Given the description of an element on the screen output the (x, y) to click on. 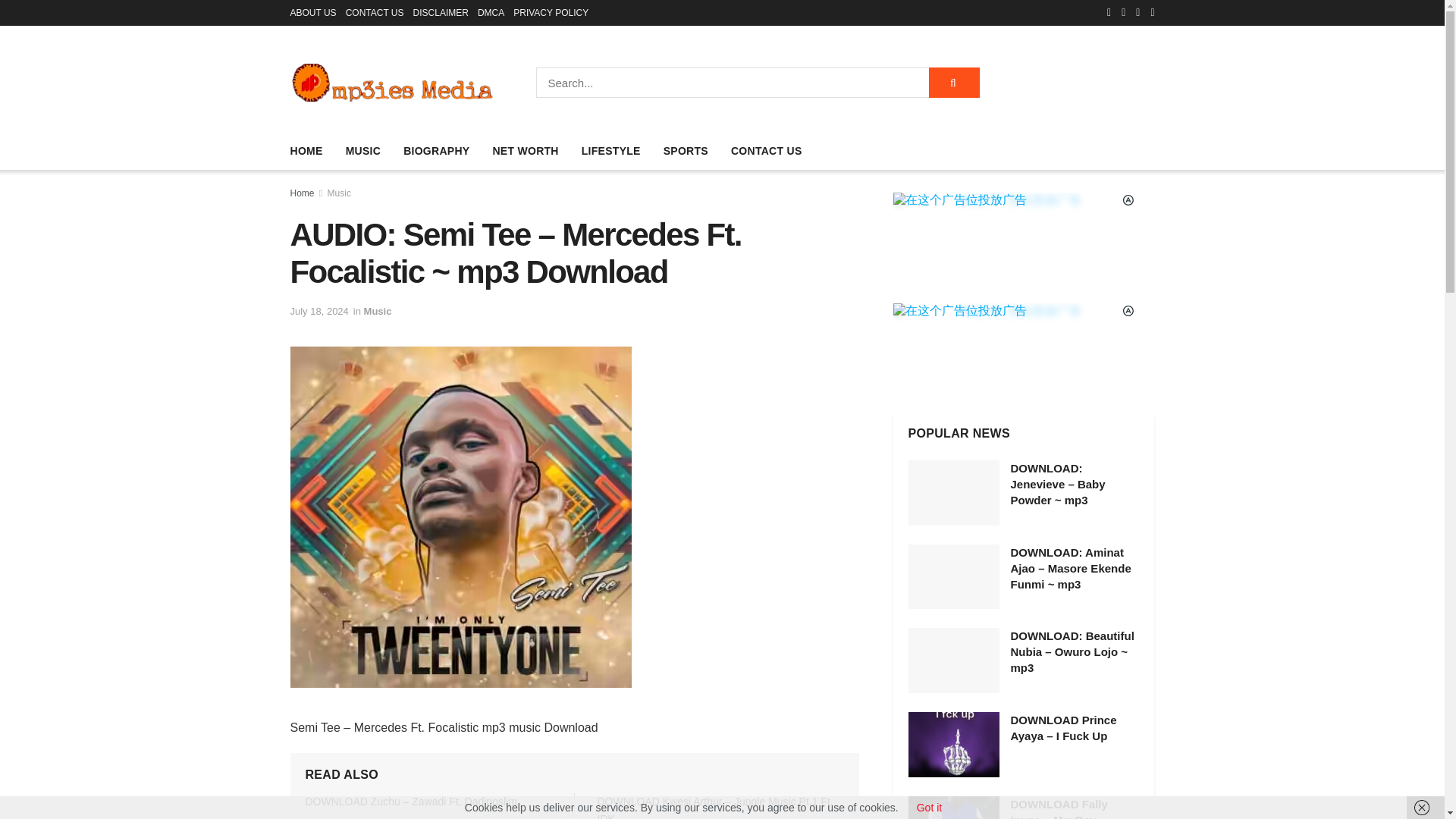
HOME (305, 150)
Home (301, 193)
MUSIC (363, 150)
CONTACT US (375, 12)
BIOGRAPHY (435, 150)
DMCA (490, 12)
ABOUT US (312, 12)
SPORTS (685, 150)
NET WORTH (524, 150)
Semi-Tee.jpg (459, 516)
PRIVACY POLICY (550, 12)
DISCLAIMER (440, 12)
LIFESTYLE (610, 150)
CONTACT US (766, 150)
